Given the description of an element on the screen output the (x, y) to click on. 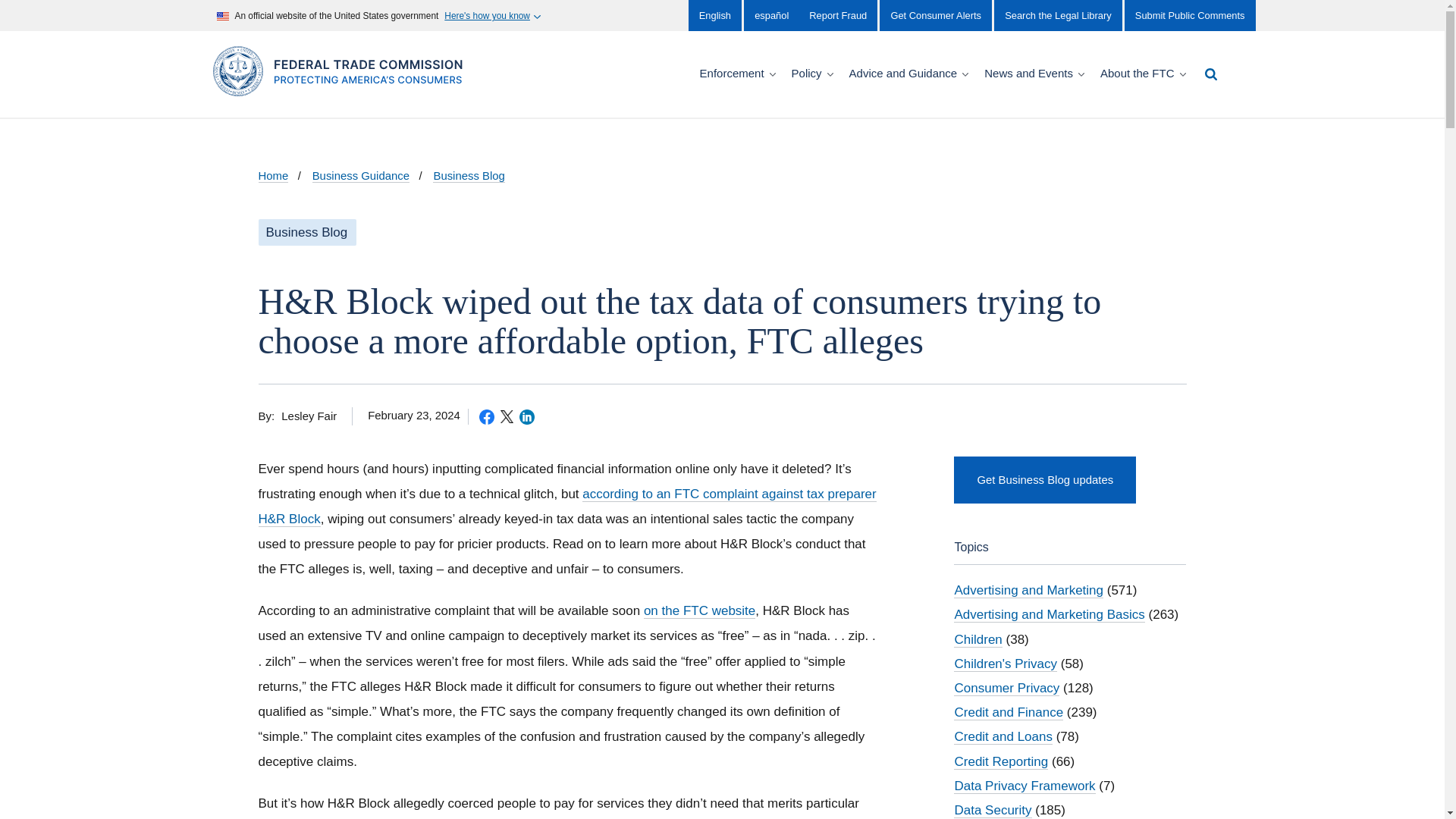
Home (343, 87)
News and Events (1035, 73)
Search the Legal Library (1057, 15)
English (714, 15)
Enforcement (739, 73)
Policy (814, 73)
About the FTC (1144, 73)
Advice and Guidance (910, 73)
Get Consumer Alerts (935, 15)
Home (272, 175)
